Given the description of an element on the screen output the (x, y) to click on. 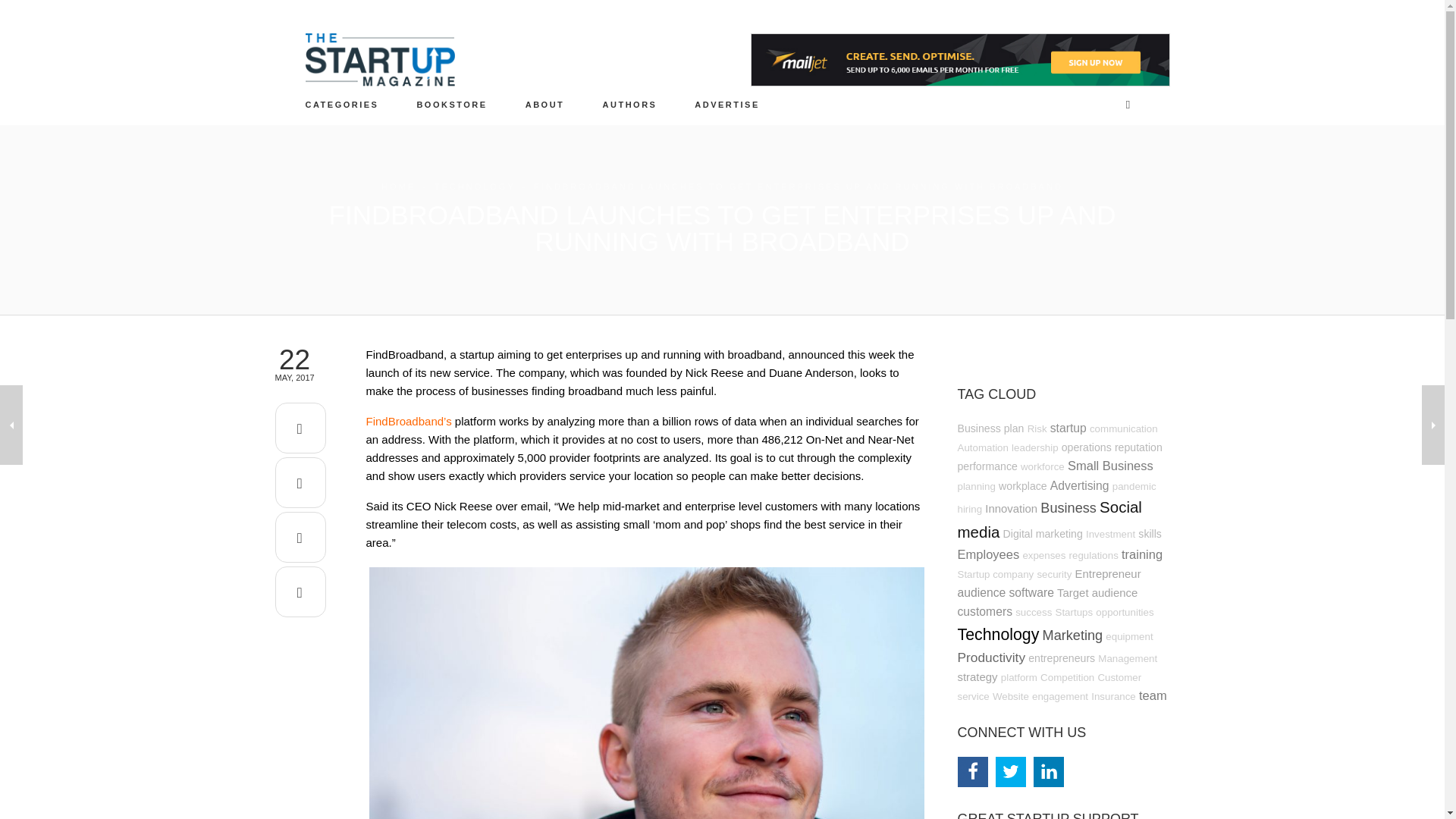
201 topics (989, 428)
Categories (341, 103)
AUTHORS (630, 103)
294 topics (1067, 427)
196 topics (975, 486)
191 topics (1034, 447)
226 topics (986, 466)
ADVERTISE (727, 103)
351 topics (1110, 465)
ABOUT (544, 103)
168 topics (1036, 428)
153 topics (1042, 466)
Welcome to The Startup Magazine (544, 103)
185 topics (1123, 428)
CATEGORIES (341, 103)
